Given the description of an element on the screen output the (x, y) to click on. 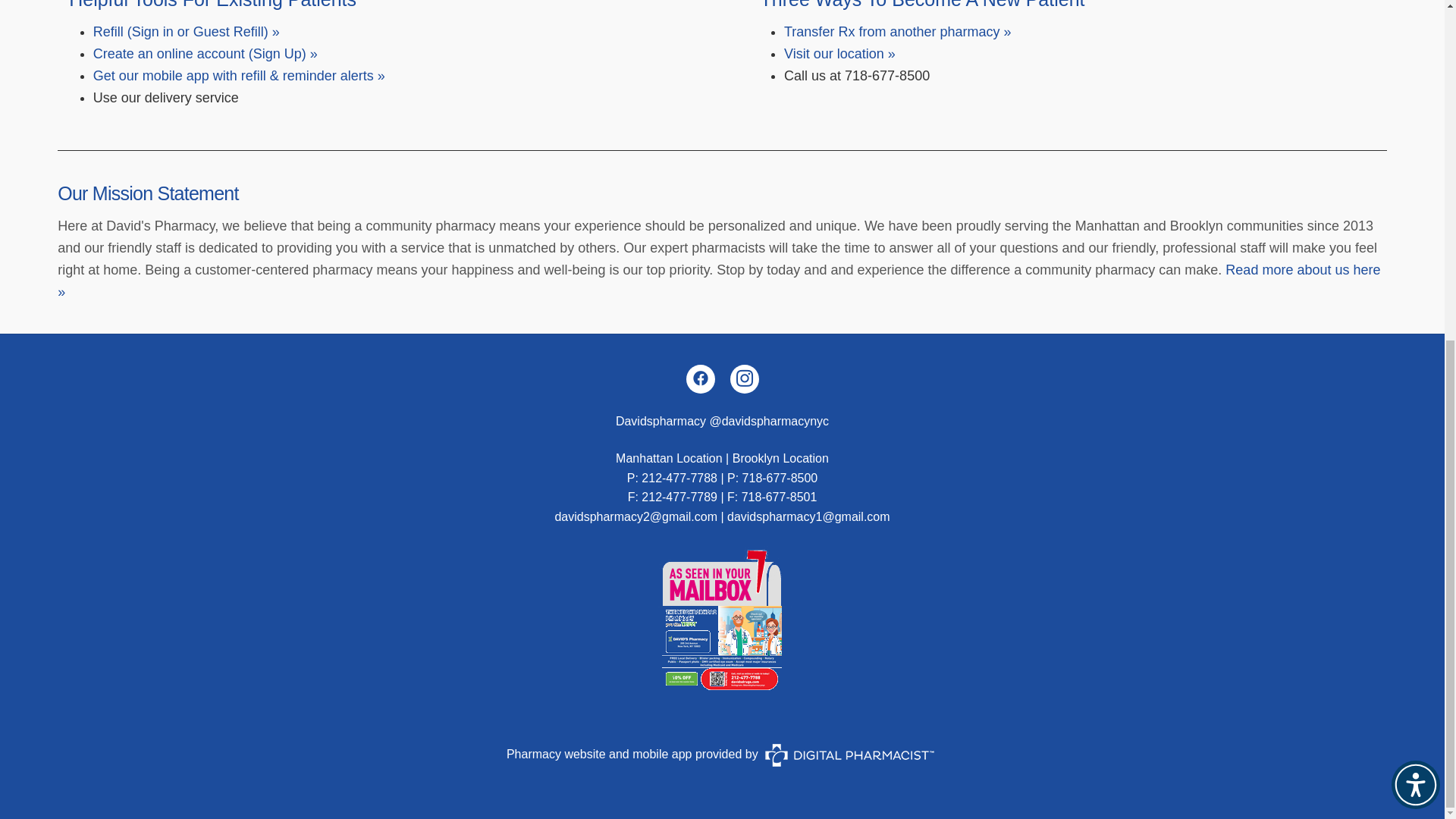
Digital Pharmacist (849, 754)
Pharmacy website and mobile app (599, 753)
Accessibility Menu (1415, 207)
